Given the description of an element on the screen output the (x, y) to click on. 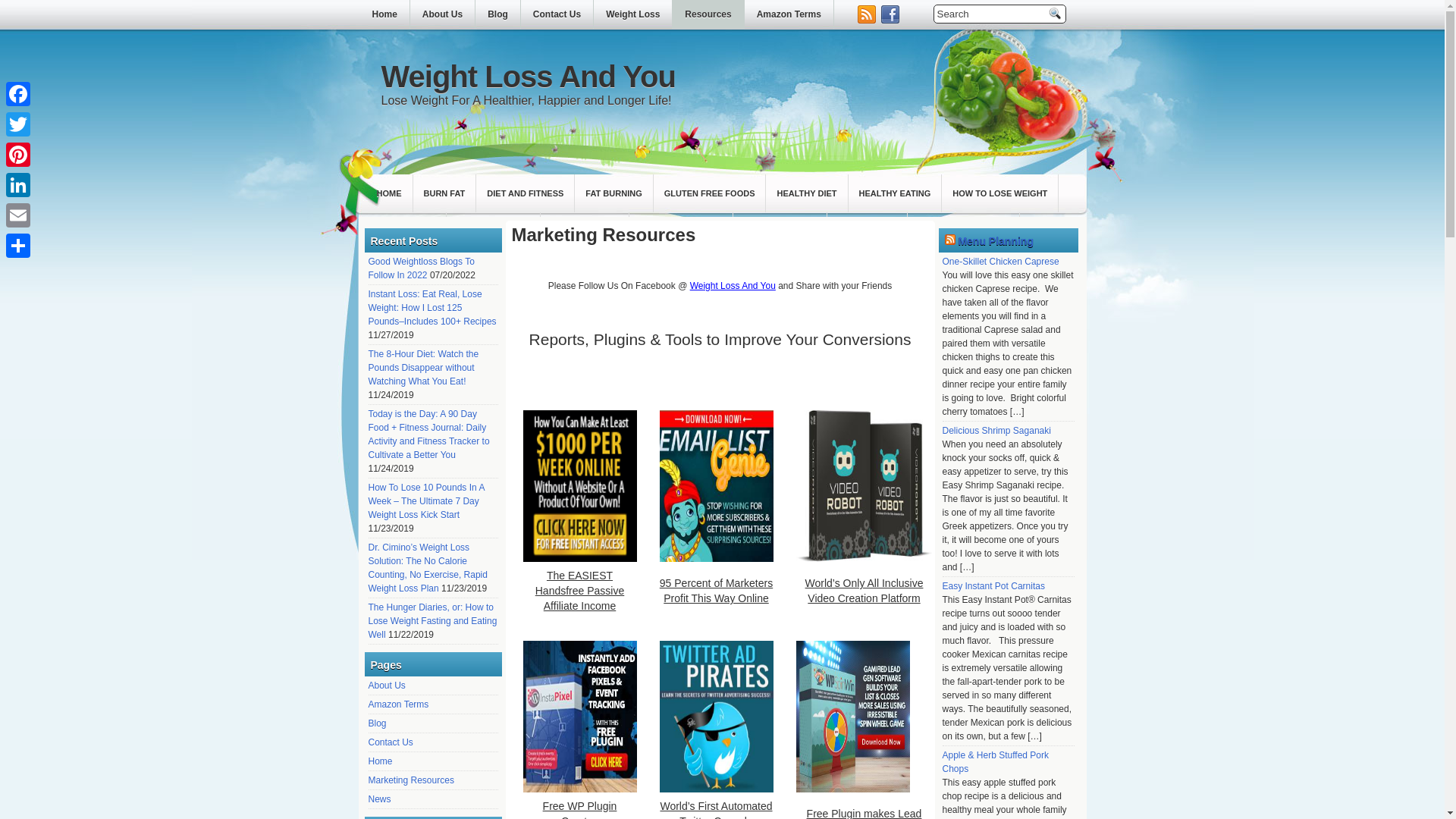
low carb diets (492, 231)
Contact Us (556, 14)
FAT BURNING (613, 193)
healthy eating habits (895, 193)
burn fat (444, 193)
GLUTEN FREE FOODS (709, 193)
Weight Loss And You (527, 76)
Contact Us (390, 742)
NUTRITION TIPS (583, 231)
HOW TO LOSE WEIGHT (1000, 193)
fat burning (613, 193)
HOME (388, 193)
Search (990, 14)
HEALTHY DIET (806, 193)
weight loss (867, 231)
